Given the description of an element on the screen output the (x, y) to click on. 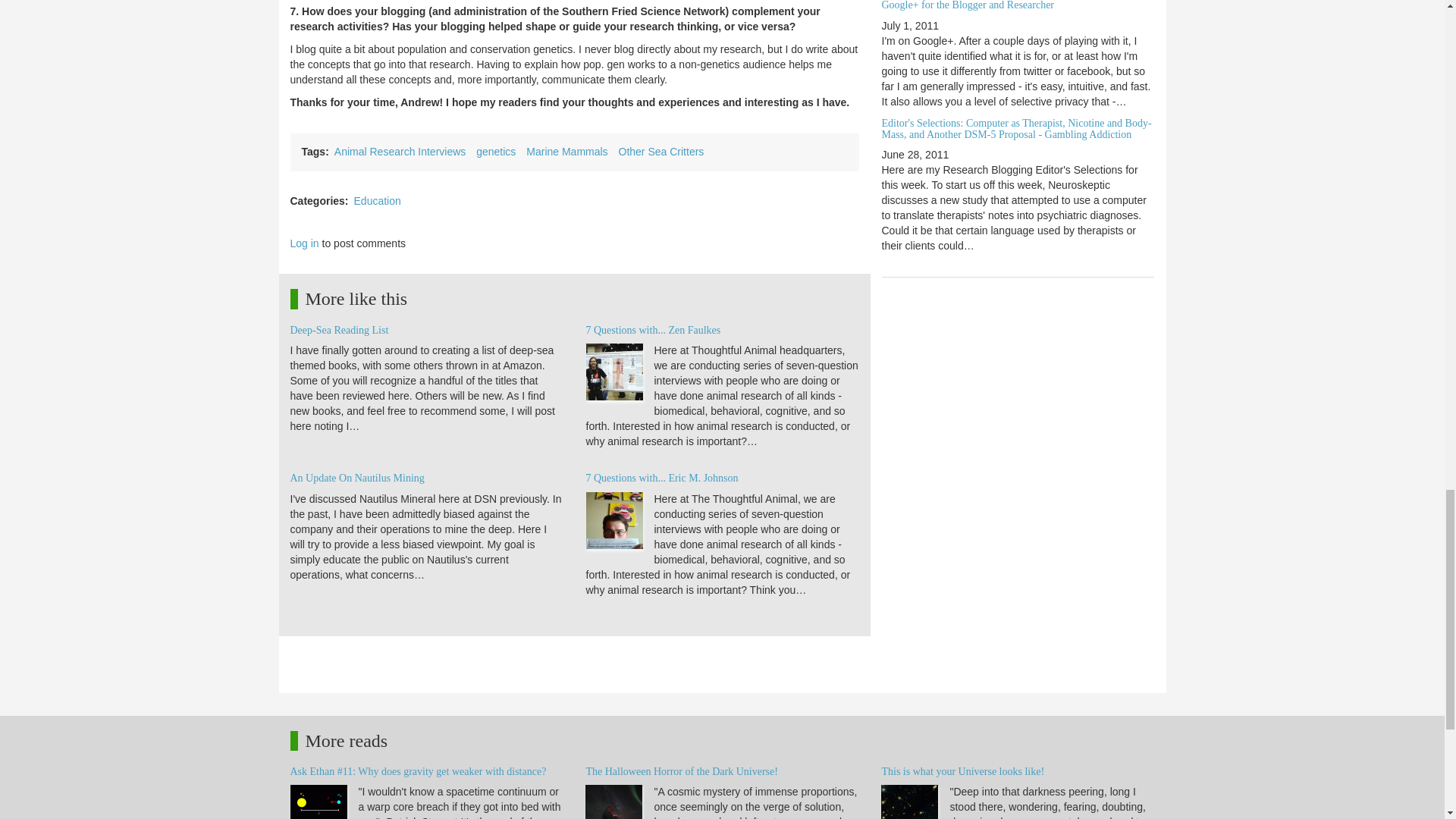
Deep-Sea Reading List (338, 329)
Animal Research Interviews (399, 151)
Other Sea Critters (661, 151)
Education (377, 200)
Log in (303, 242)
genetics (495, 151)
Marine Mammals (566, 151)
